Given the description of an element on the screen output the (x, y) to click on. 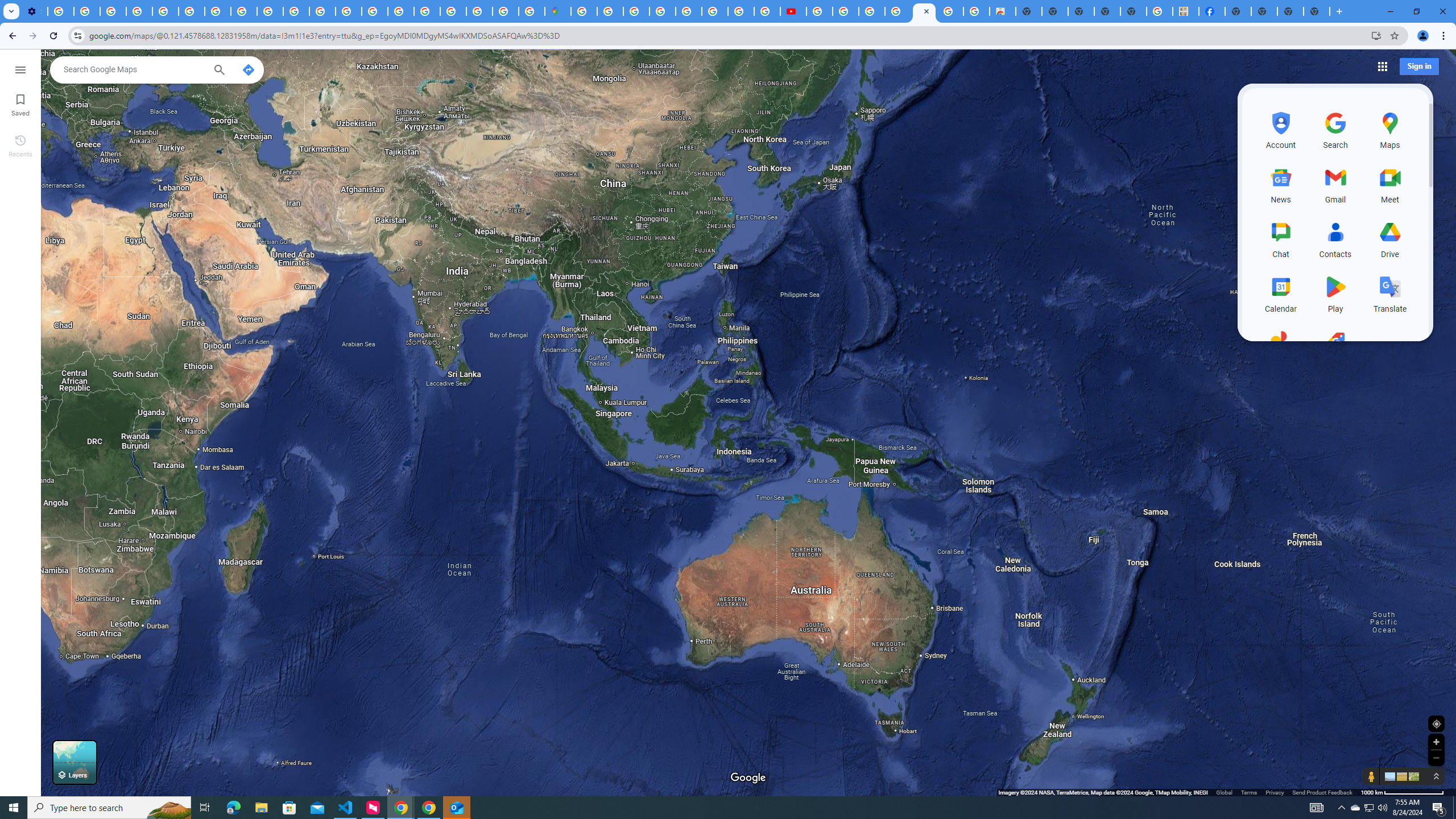
Address and search bar (726, 35)
Sign in (1418, 66)
Layers (74, 762)
Google Maps (923, 11)
Directions (247, 69)
